Given the description of an element on the screen output the (x, y) to click on. 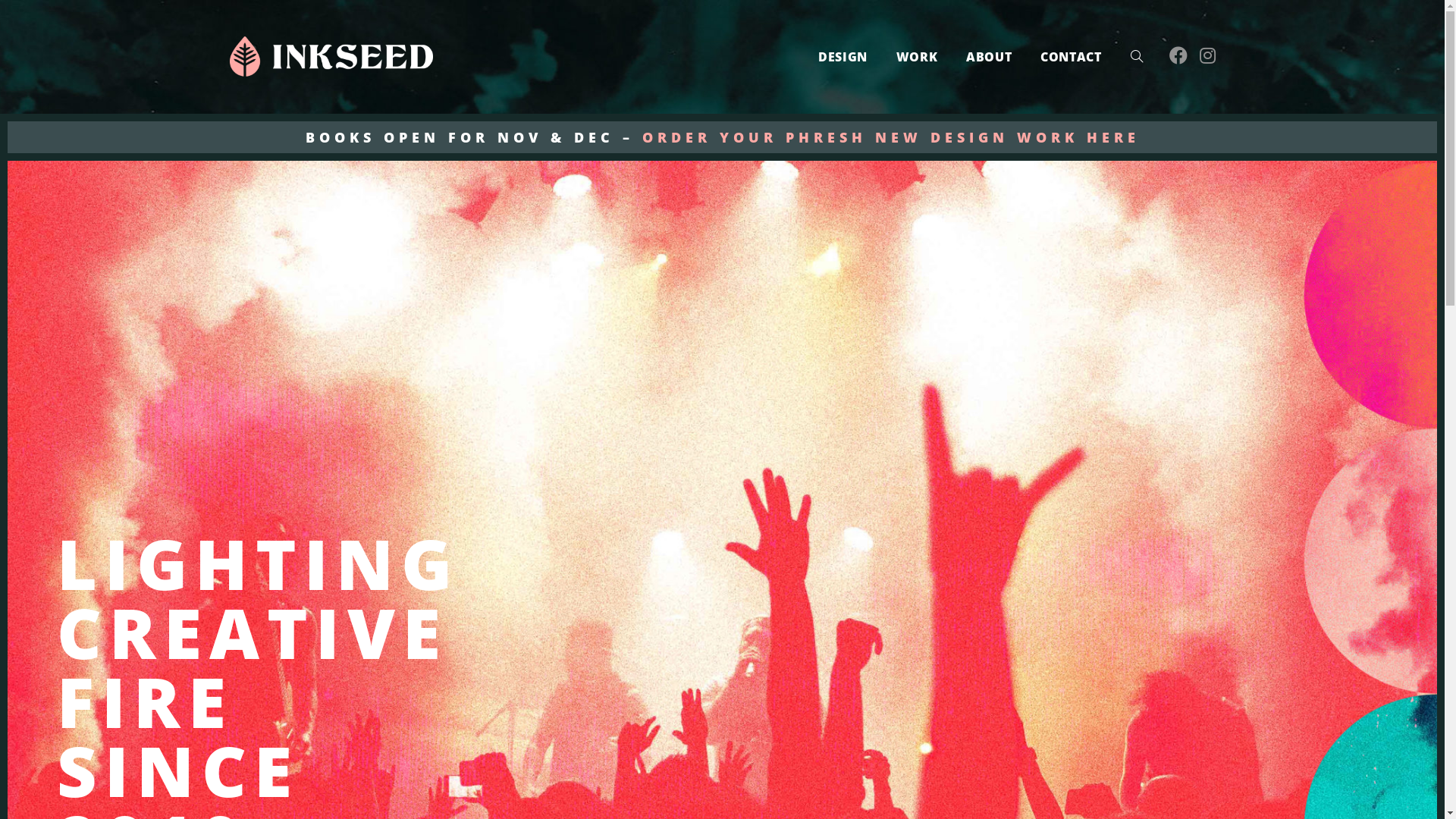
CONTACT Element type: text (1070, 56)
ABOUT Element type: text (988, 56)
ORDER YOUR PHRESH NEW DESIGN WORK HERE Element type: text (890, 137)
WORK Element type: text (916, 56)
DESIGN Element type: text (842, 56)
